Given the description of an element on the screen output the (x, y) to click on. 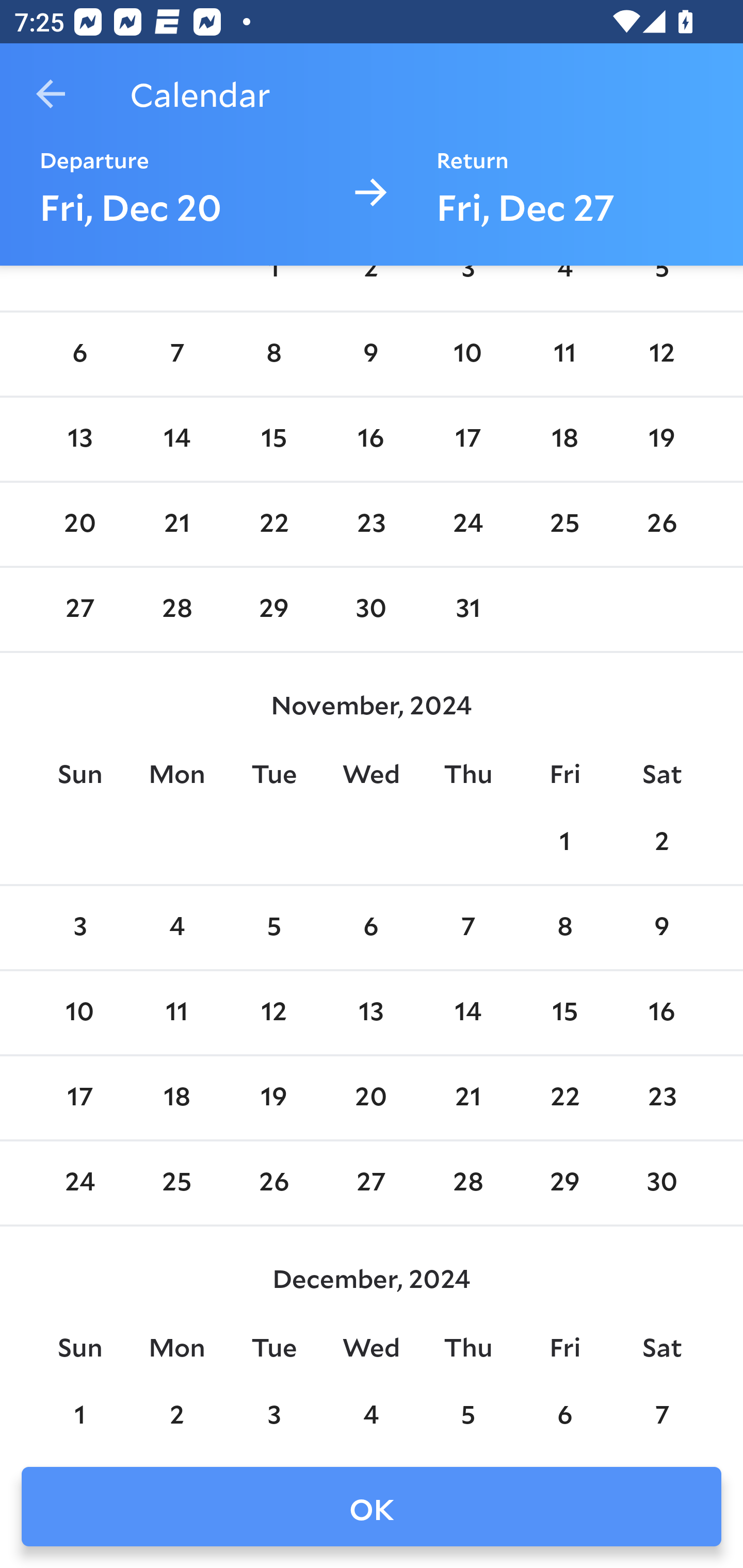
Navigate up (50, 93)
6 (79, 354)
7 (177, 354)
8 (273, 354)
9 (371, 354)
10 (467, 354)
11 (565, 354)
12 (661, 354)
13 (79, 438)
14 (177, 438)
15 (273, 438)
16 (371, 438)
17 (467, 438)
18 (565, 438)
19 (661, 438)
20 (79, 525)
21 (177, 525)
22 (273, 525)
23 (371, 525)
24 (467, 525)
25 (565, 525)
26 (661, 525)
27 (79, 609)
28 (177, 609)
29 (273, 609)
30 (371, 609)
31 (467, 609)
1 (565, 842)
2 (661, 842)
3 (79, 928)
4 (177, 928)
5 (273, 928)
6 (371, 928)
7 (467, 928)
8 (565, 928)
9 (661, 928)
10 (79, 1012)
11 (177, 1012)
12 (273, 1012)
13 (371, 1012)
14 (467, 1012)
15 (565, 1012)
16 (661, 1012)
17 (79, 1097)
18 (177, 1097)
19 (273, 1097)
20 (371, 1097)
21 (467, 1097)
22 (565, 1097)
23 (661, 1097)
